Given the description of an element on the screen output the (x, y) to click on. 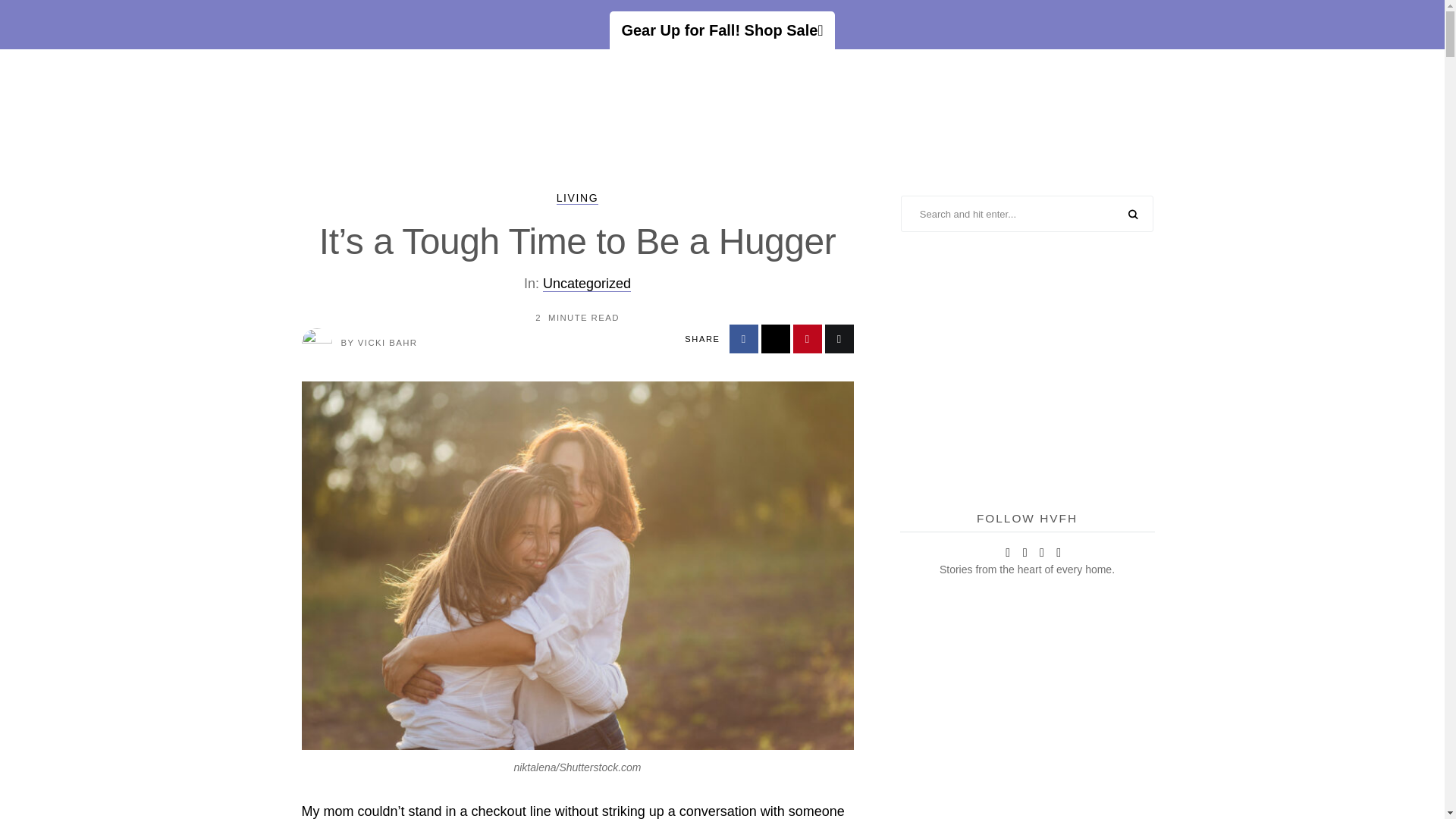
Share on Facebook (743, 338)
SEARCH (1133, 214)
Share on Pinterest (807, 338)
Share by Email (839, 338)
Share on X (775, 338)
